Given the description of an element on the screen output the (x, y) to click on. 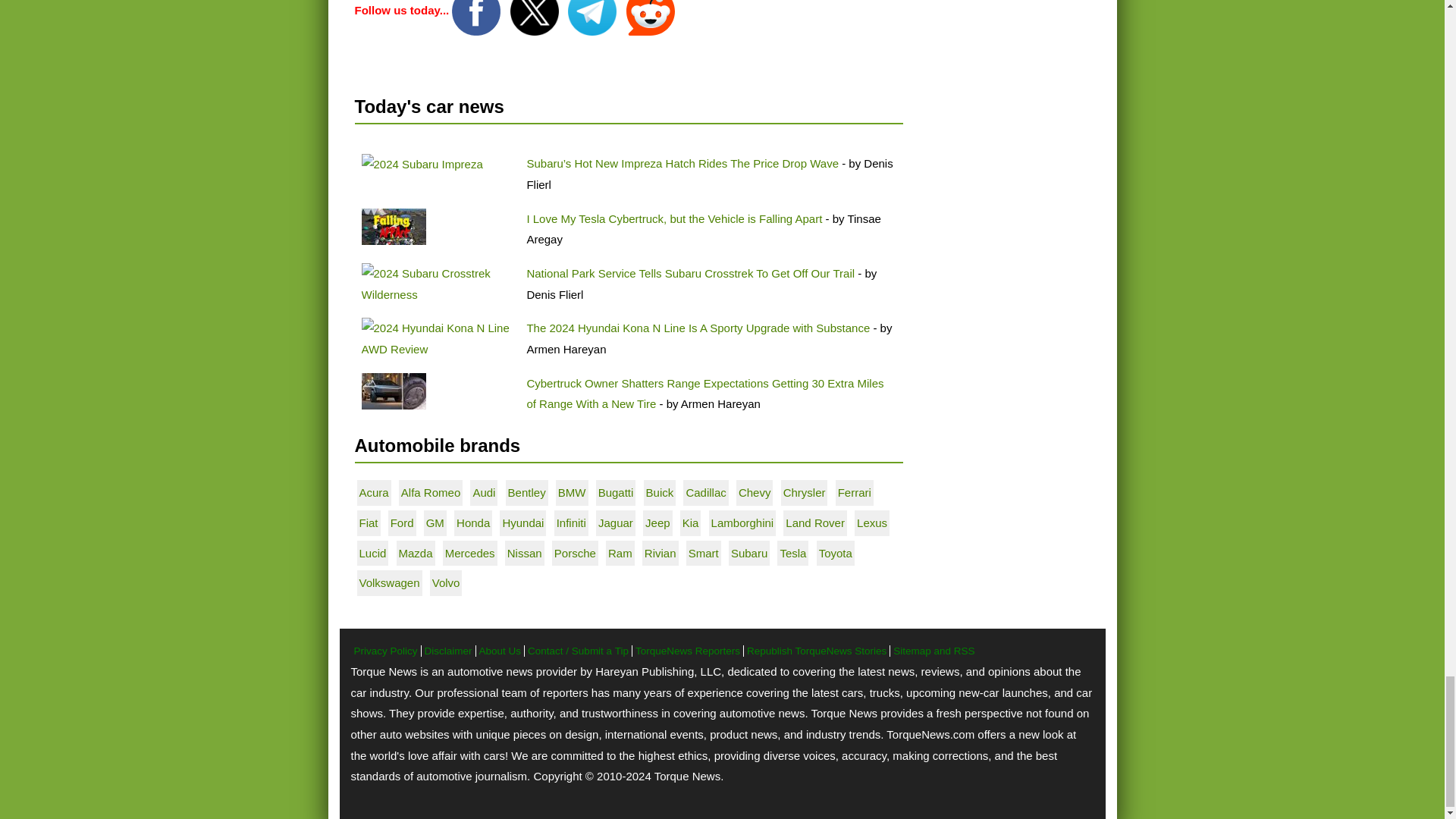
Join us on Reddit! (650, 10)
I Love My Tesla Cybertruck, but the Vehicle is Falling Apart (393, 226)
2024 Hyundai Kona N Line AWD Review (437, 338)
Join us on Telegram! (593, 10)
2024 Subaru Impreza RS front view (421, 164)
